Given the description of an element on the screen output the (x, y) to click on. 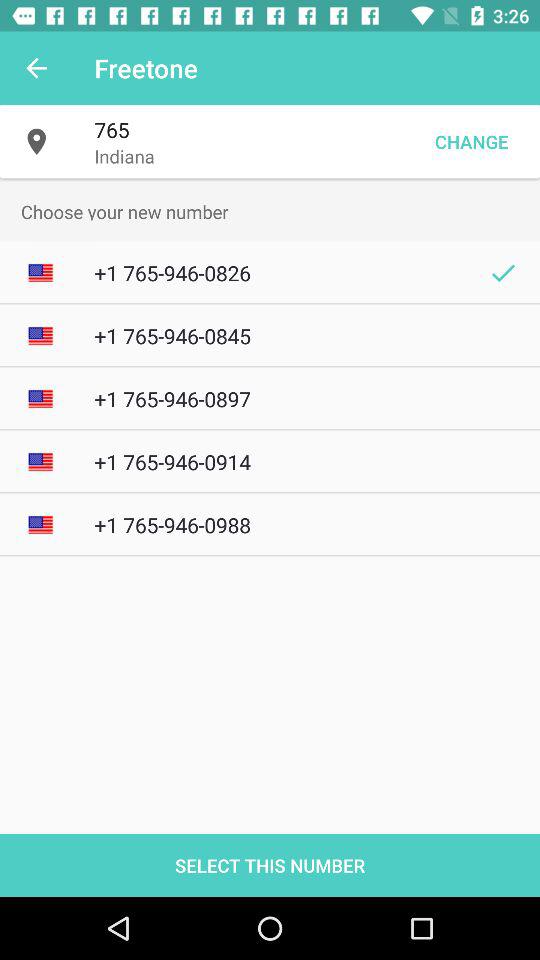
turn off change (471, 141)
